Given the description of an element on the screen output the (x, y) to click on. 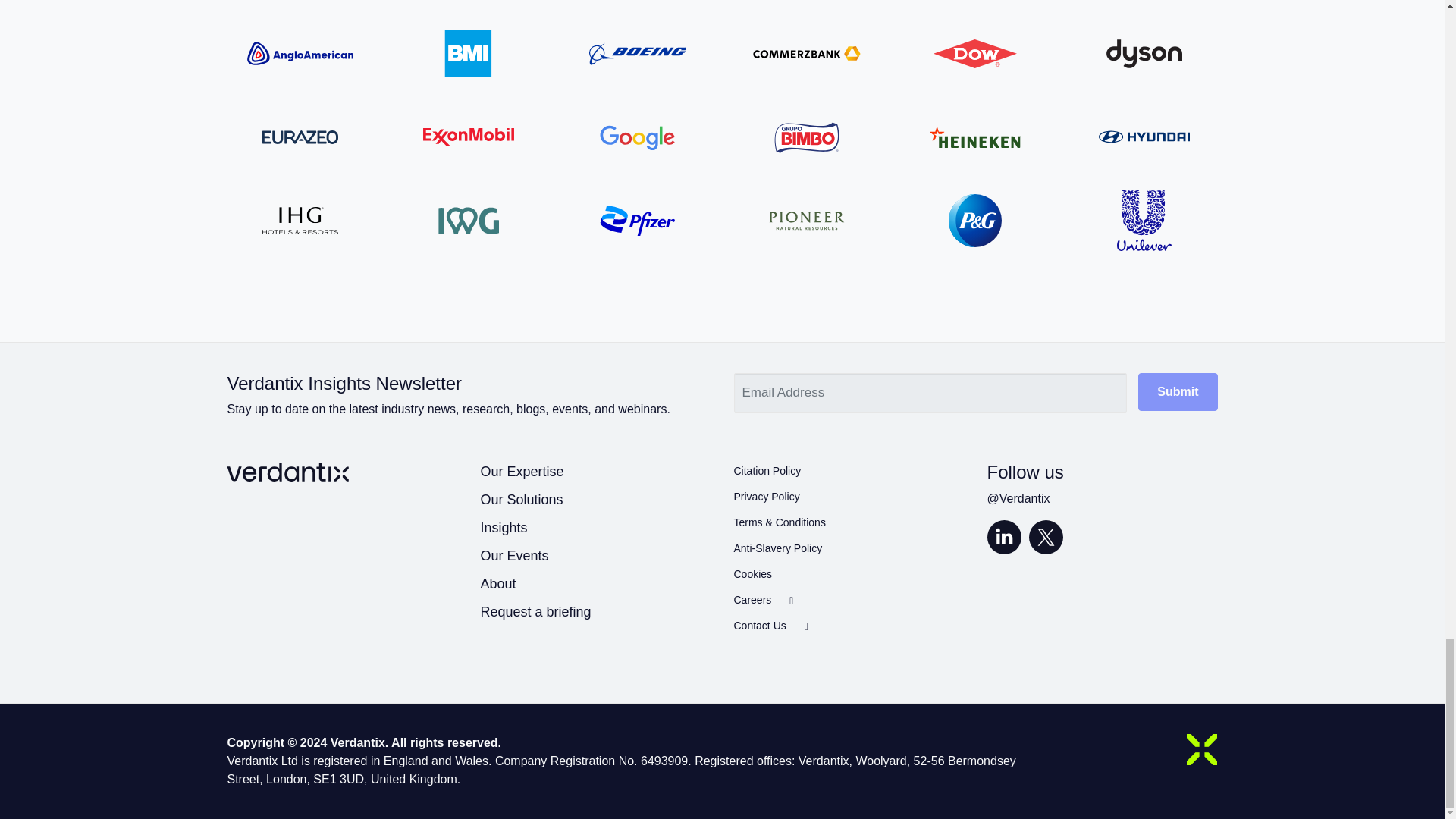
Contact Us (975, 399)
